Given the description of an element on the screen output the (x, y) to click on. 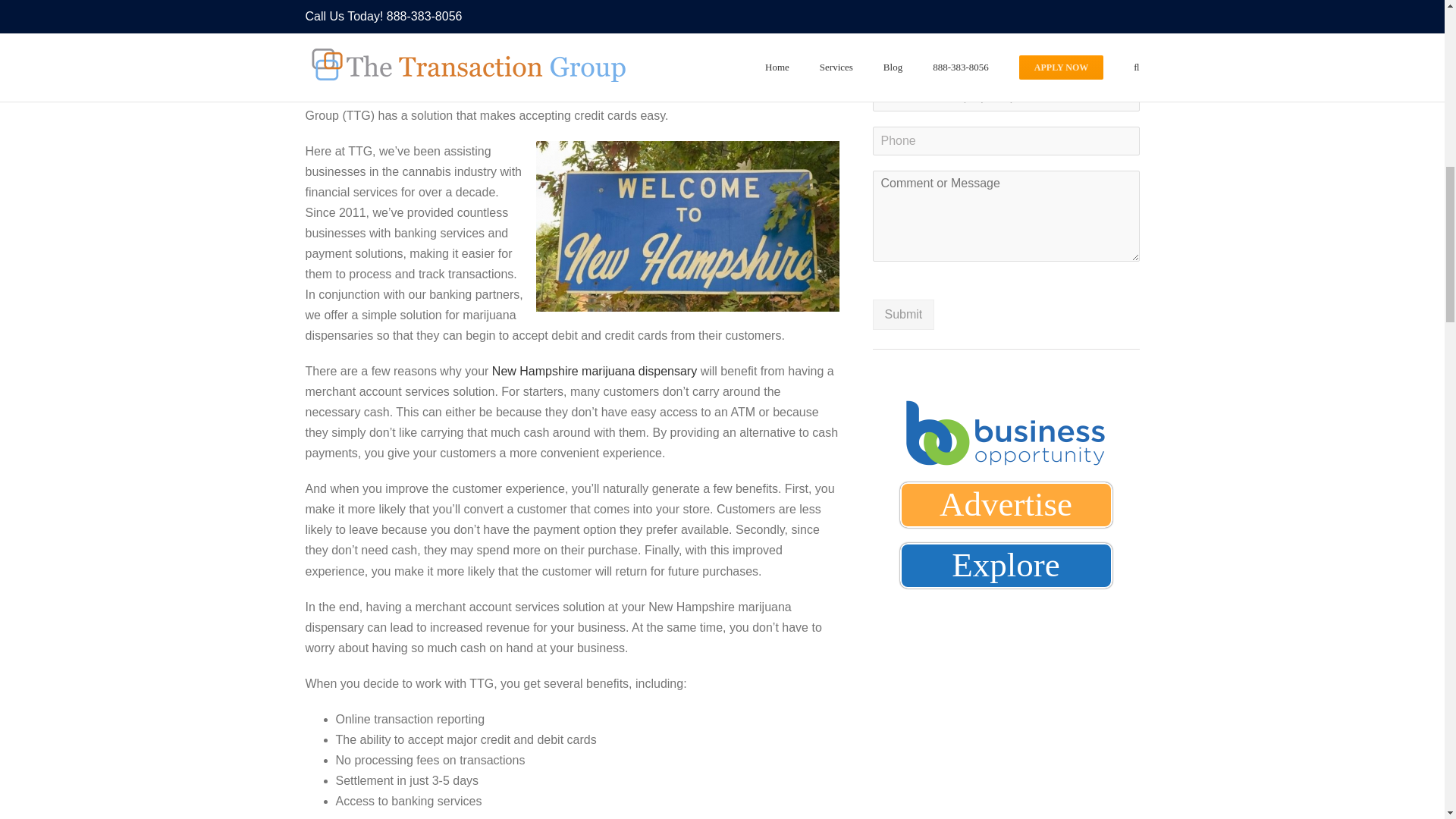
Advertise (1005, 504)
Explore (1005, 565)
Submit (903, 314)
New Hampshire marijuana dispensary (594, 370)
